Given the description of an element on the screen output the (x, y) to click on. 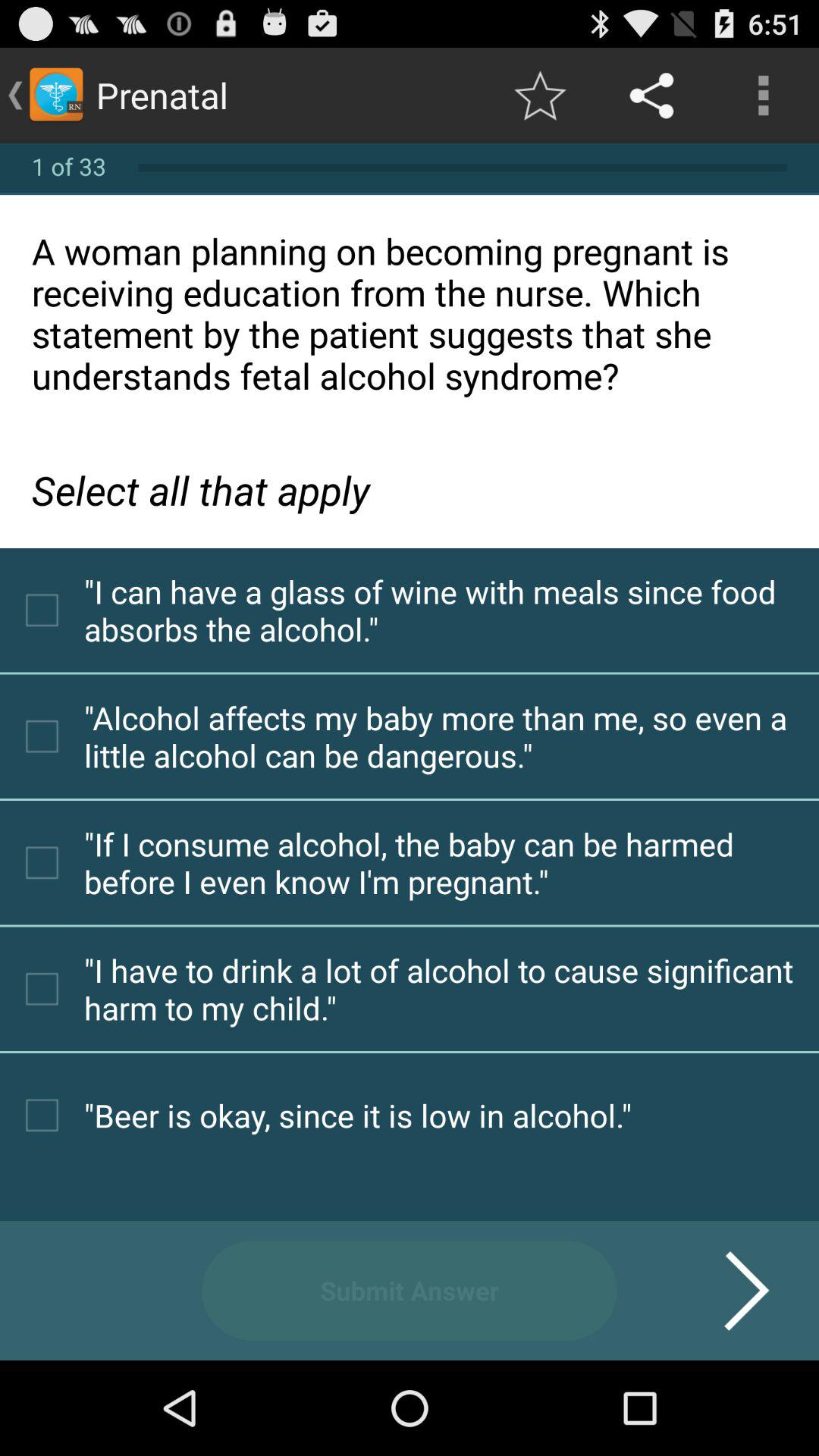
choose icon to the right of the prenatal icon (540, 95)
